Given the description of an element on the screen output the (x, y) to click on. 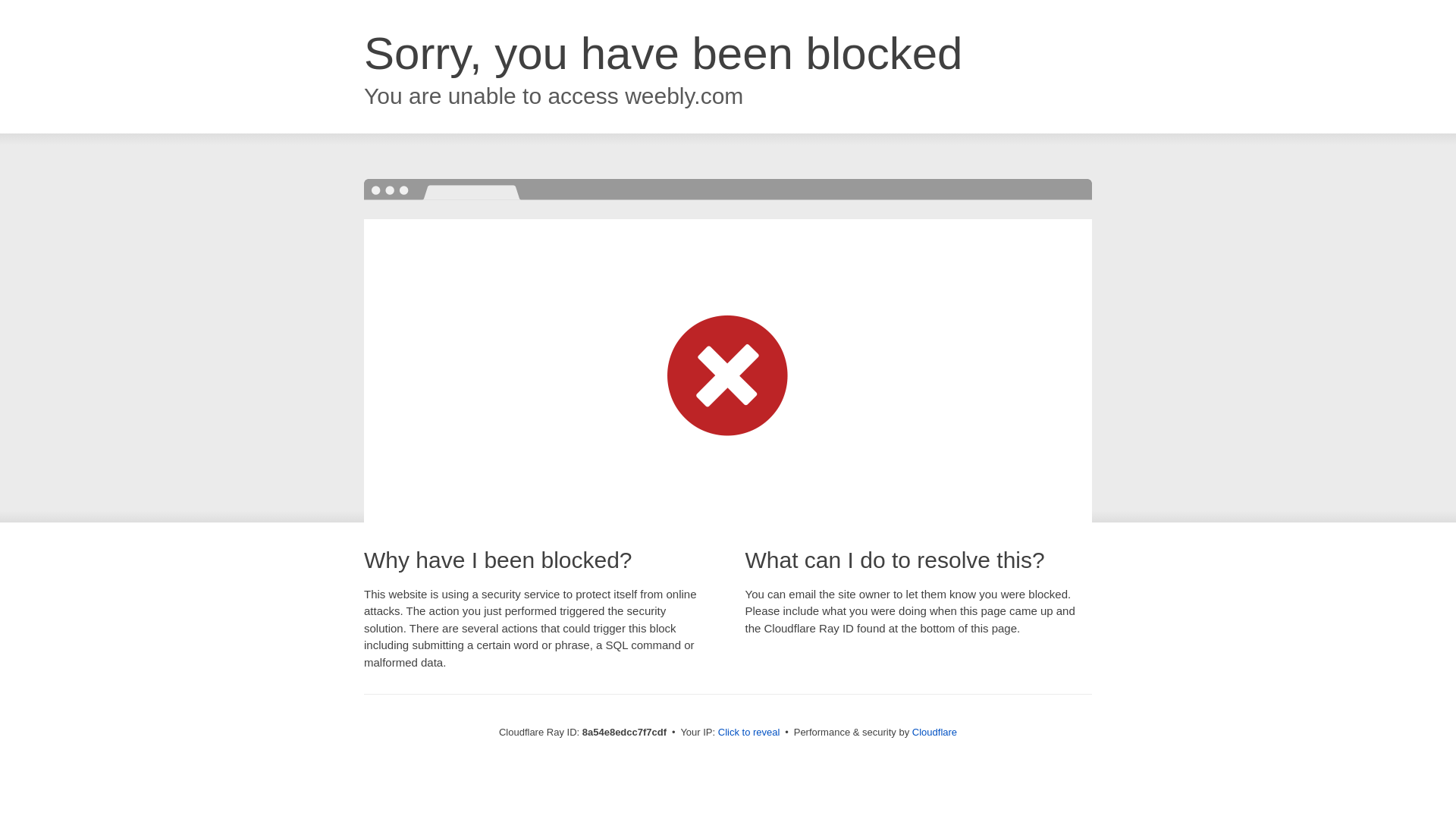
Click to reveal (748, 732)
Cloudflare (934, 731)
